Given the description of an element on the screen output the (x, y) to click on. 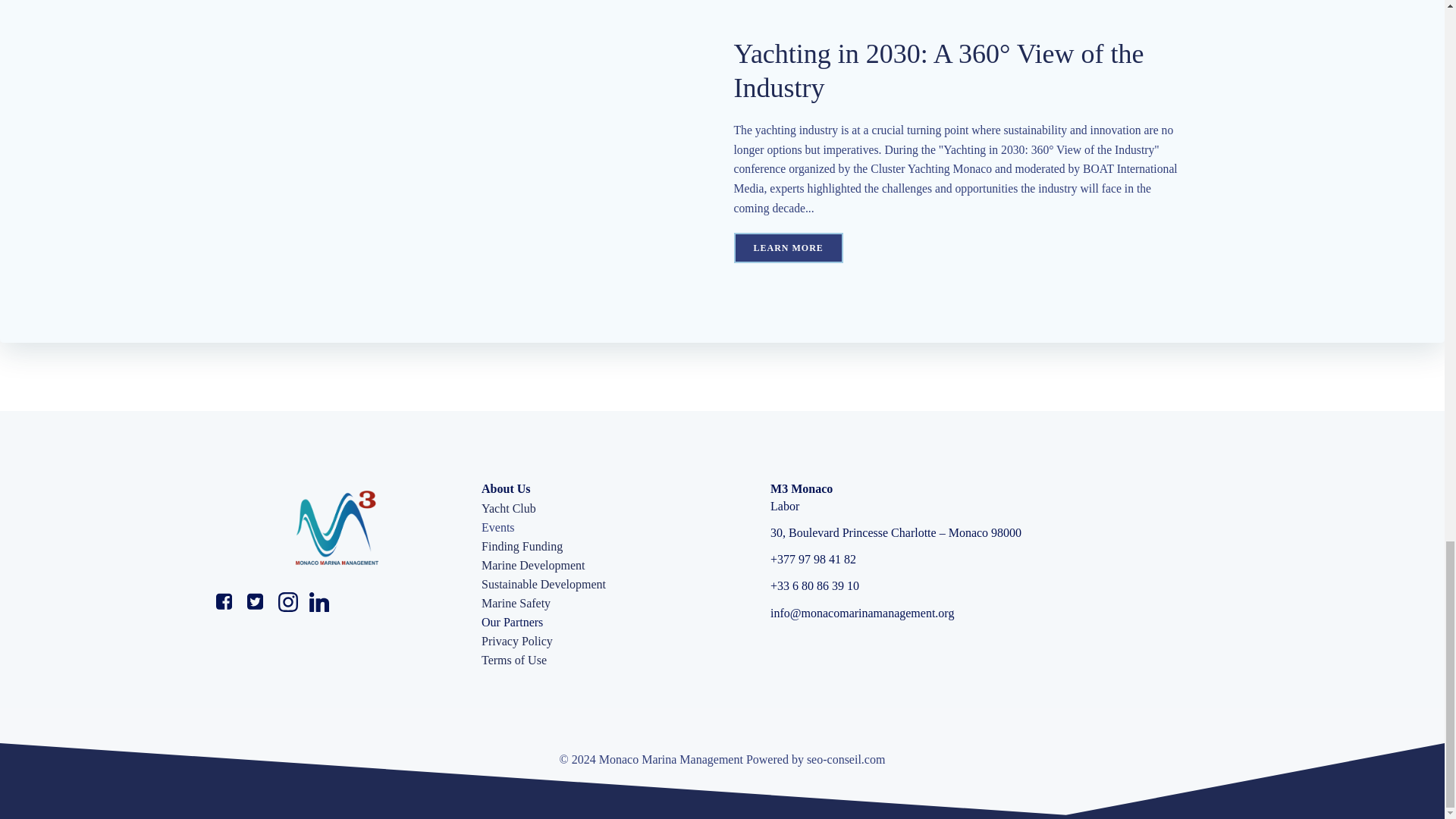
seo-conseil.com (845, 758)
Marine Safety (515, 603)
LEARN MORE (788, 247)
Events (498, 527)
Finding Funding (521, 546)
Privacy Policy (517, 641)
Sustainable Development (543, 584)
Our Partners (512, 622)
Terms of Use (514, 660)
Marine Development (533, 565)
